Given the description of an element on the screen output the (x, y) to click on. 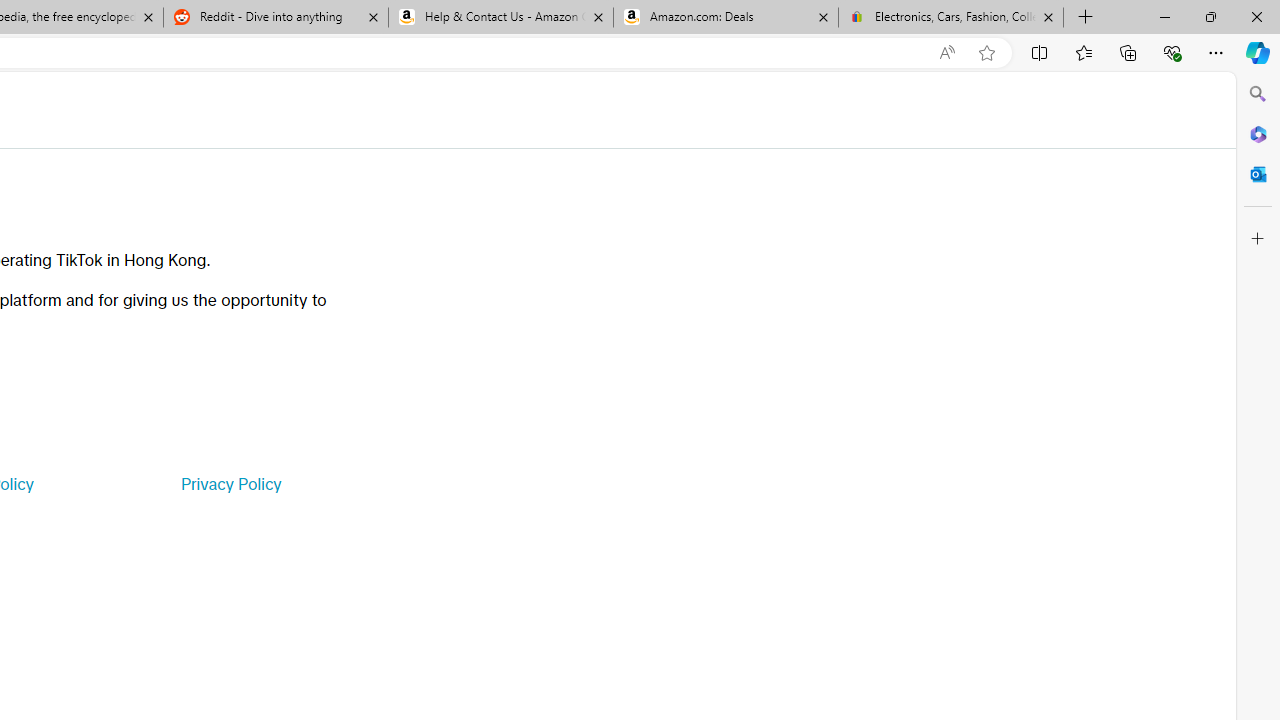
Privacy Policy (230, 484)
